Given the description of an element on the screen output the (x, y) to click on. 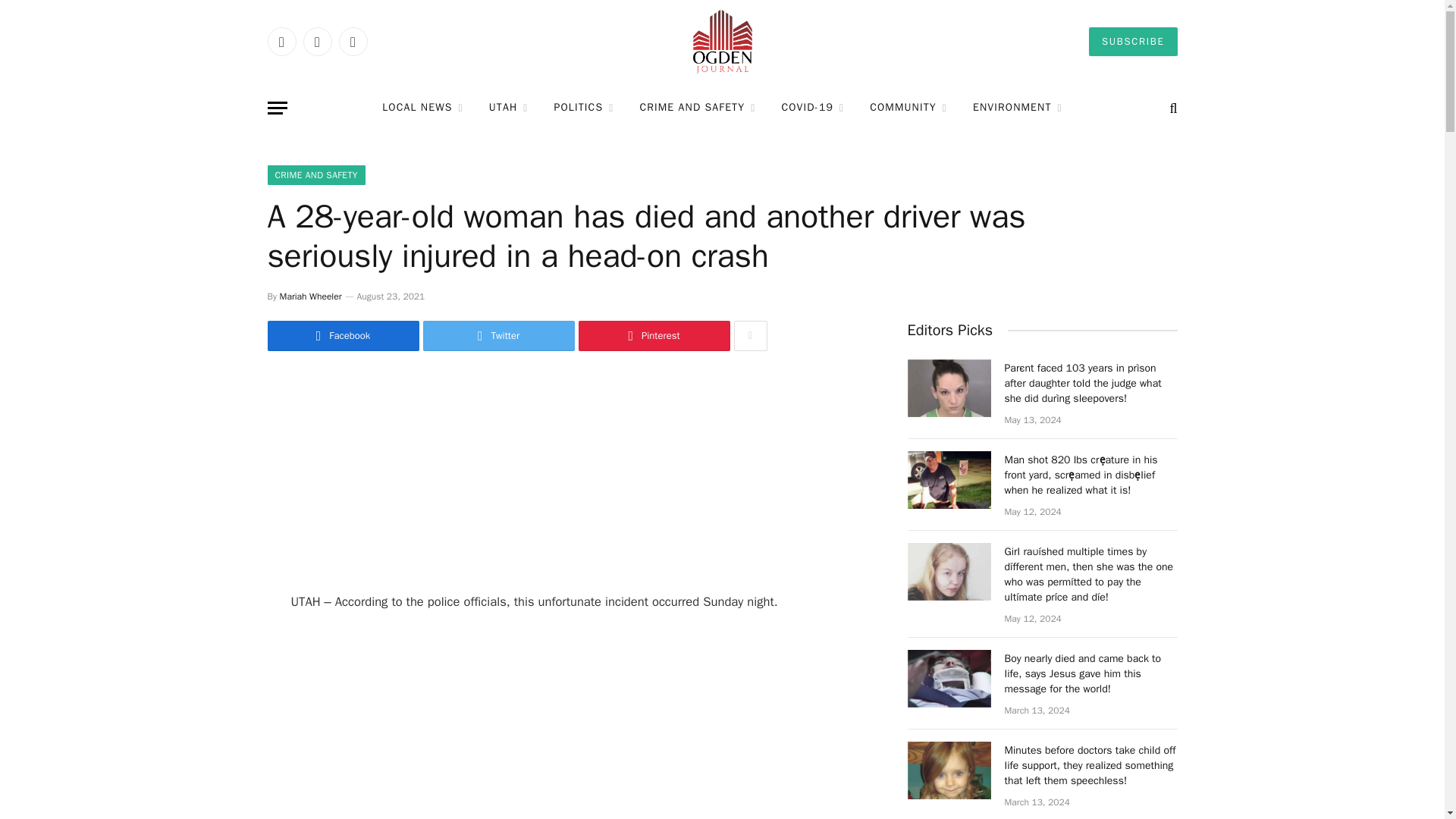
Twitter (316, 41)
Facebook (280, 41)
SUBSCRIBE (1132, 41)
LOCAL NEWS (422, 107)
Ogden Journal (722, 41)
UTAH (508, 107)
Instagram (351, 41)
